Given the description of an element on the screen output the (x, y) to click on. 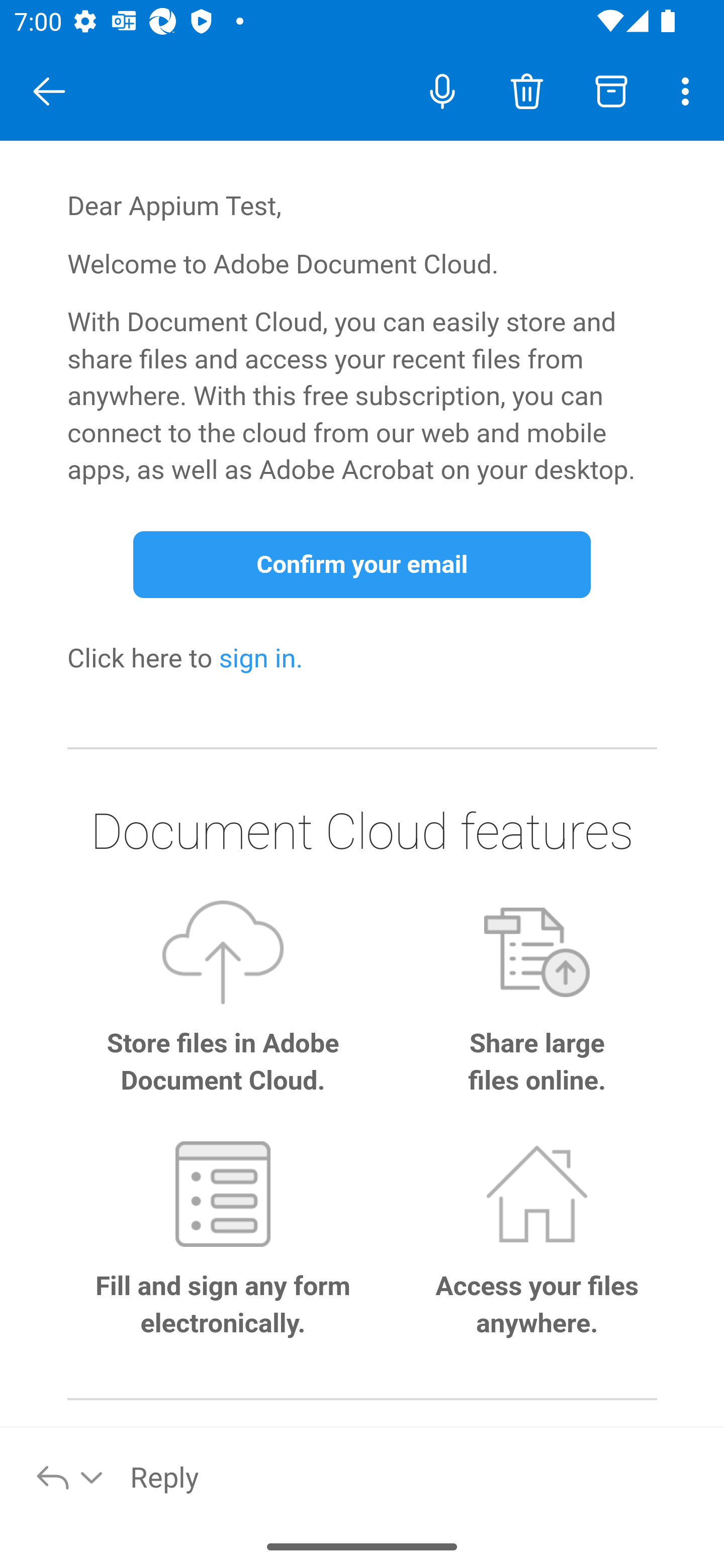
Close (49, 91)
Delete (526, 90)
Archive (611, 90)
More options (688, 90)
Confirm your email (361, 564)
sign in. (261, 660)
Reply options (70, 1475)
Reply (416, 1475)
